Given the description of an element on the screen output the (x, y) to click on. 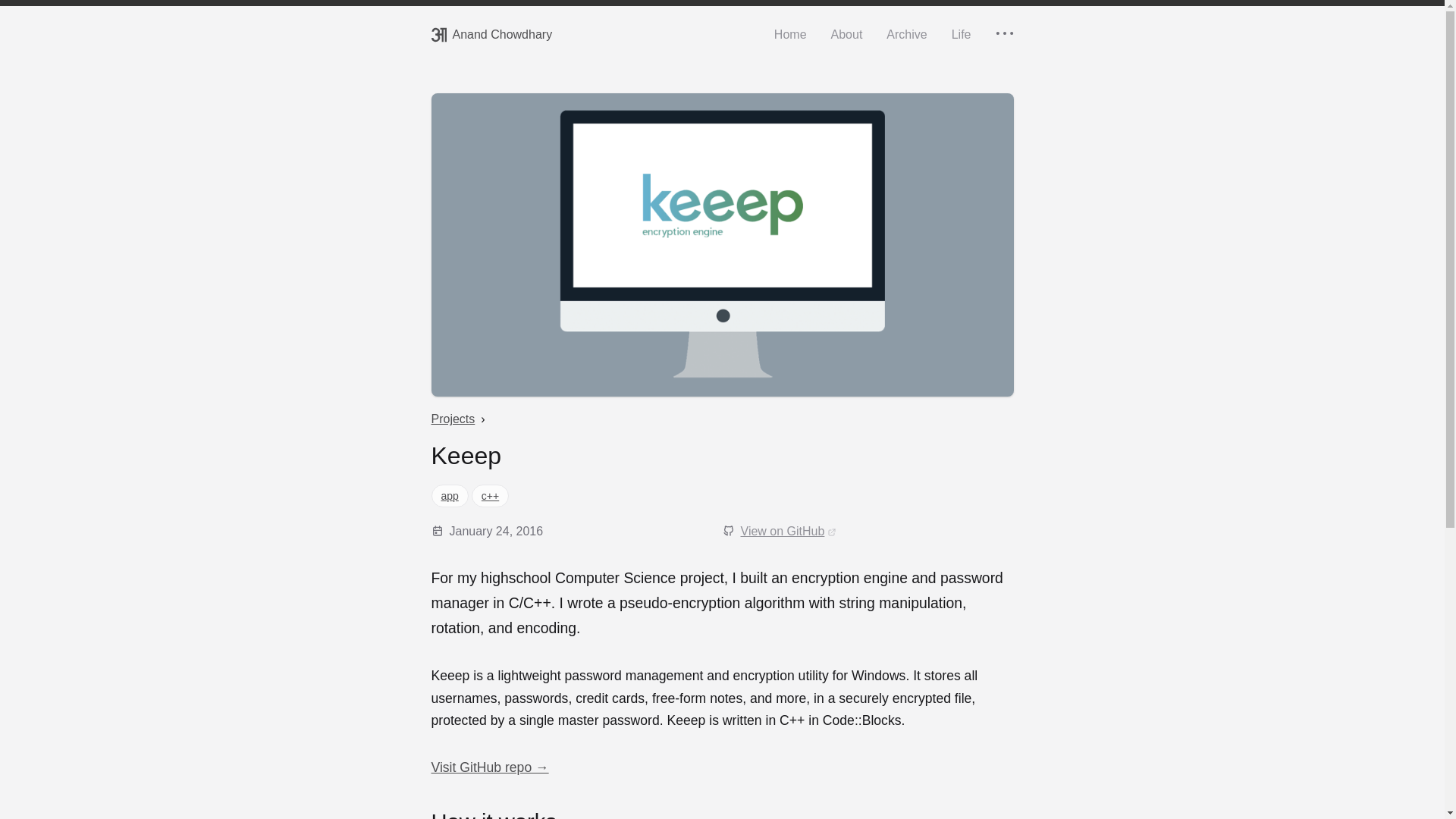
app (448, 495)
Projects (452, 418)
About (847, 34)
Archive (906, 34)
Anand Chowdhary (490, 34)
Life (961, 34)
Home (790, 34)
